Given the description of an element on the screen output the (x, y) to click on. 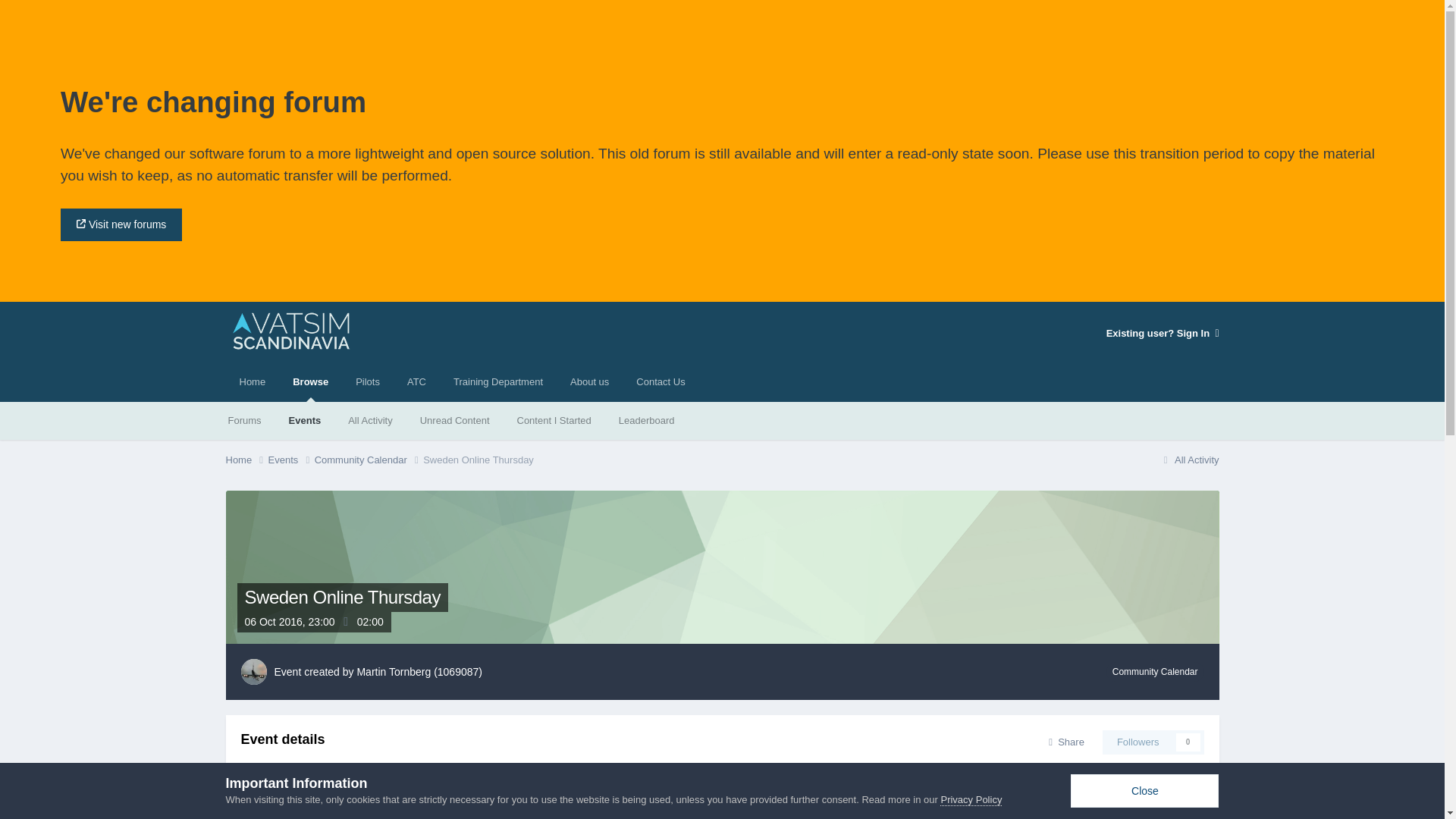
Sign in to follow this (1153, 742)
Home (252, 382)
Existing user? Sign In   (1163, 333)
ATC (416, 382)
Browse (310, 382)
Training Department (497, 382)
Unread Content (454, 420)
Leaderboard (646, 420)
Events (304, 420)
Home (246, 459)
All Activity (370, 420)
Forums (244, 420)
Content I Started (554, 420)
Enlarge image (289, 778)
Visit new forums (121, 224)
